Given the description of an element on the screen output the (x, y) to click on. 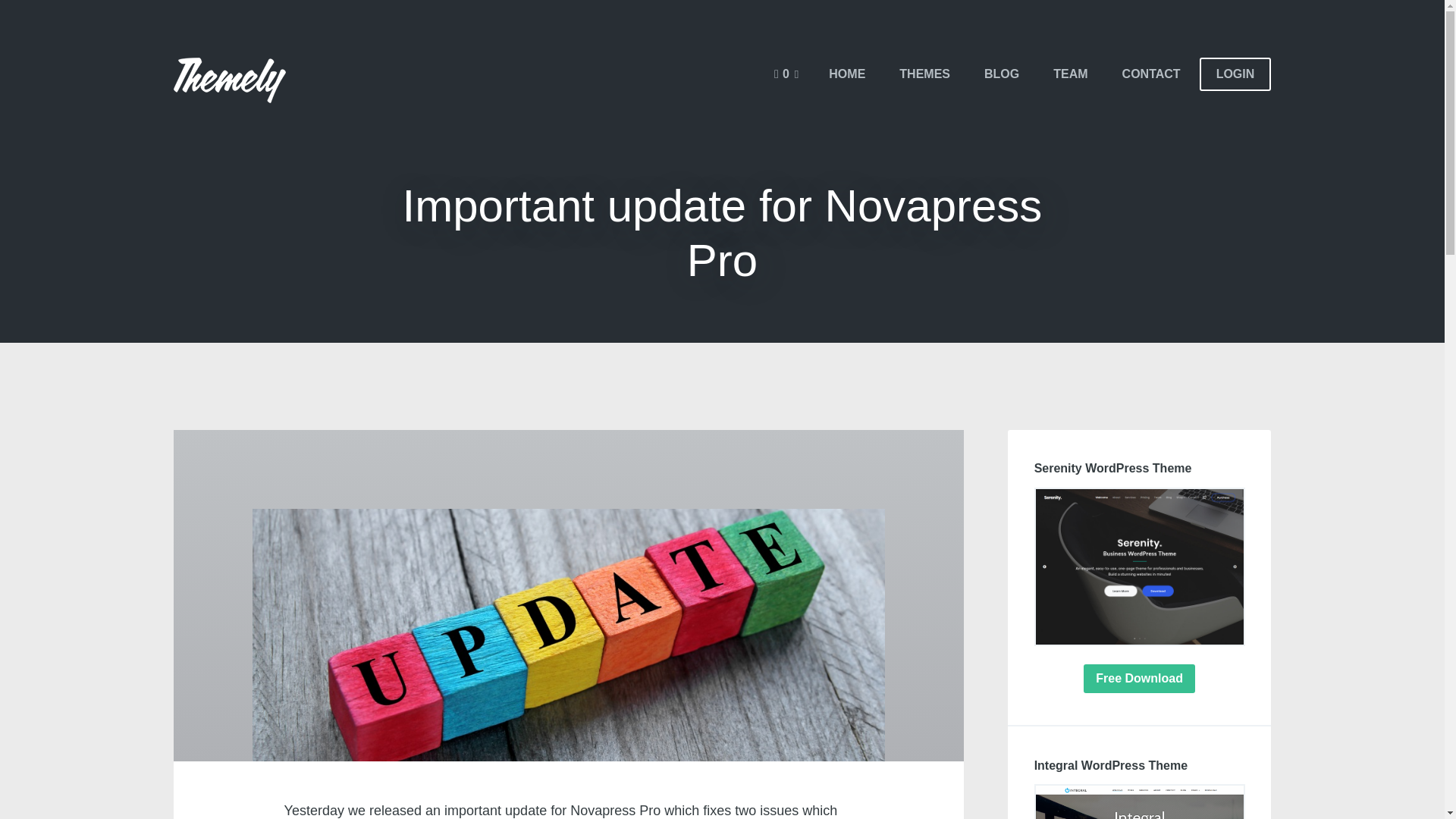
CONTACT (1150, 73)
TEAM (1070, 73)
LOGIN (1235, 73)
0 (785, 73)
HOME (846, 73)
THEMES (924, 73)
Free Download (1139, 678)
BLOG (1001, 73)
